Given the description of an element on the screen output the (x, y) to click on. 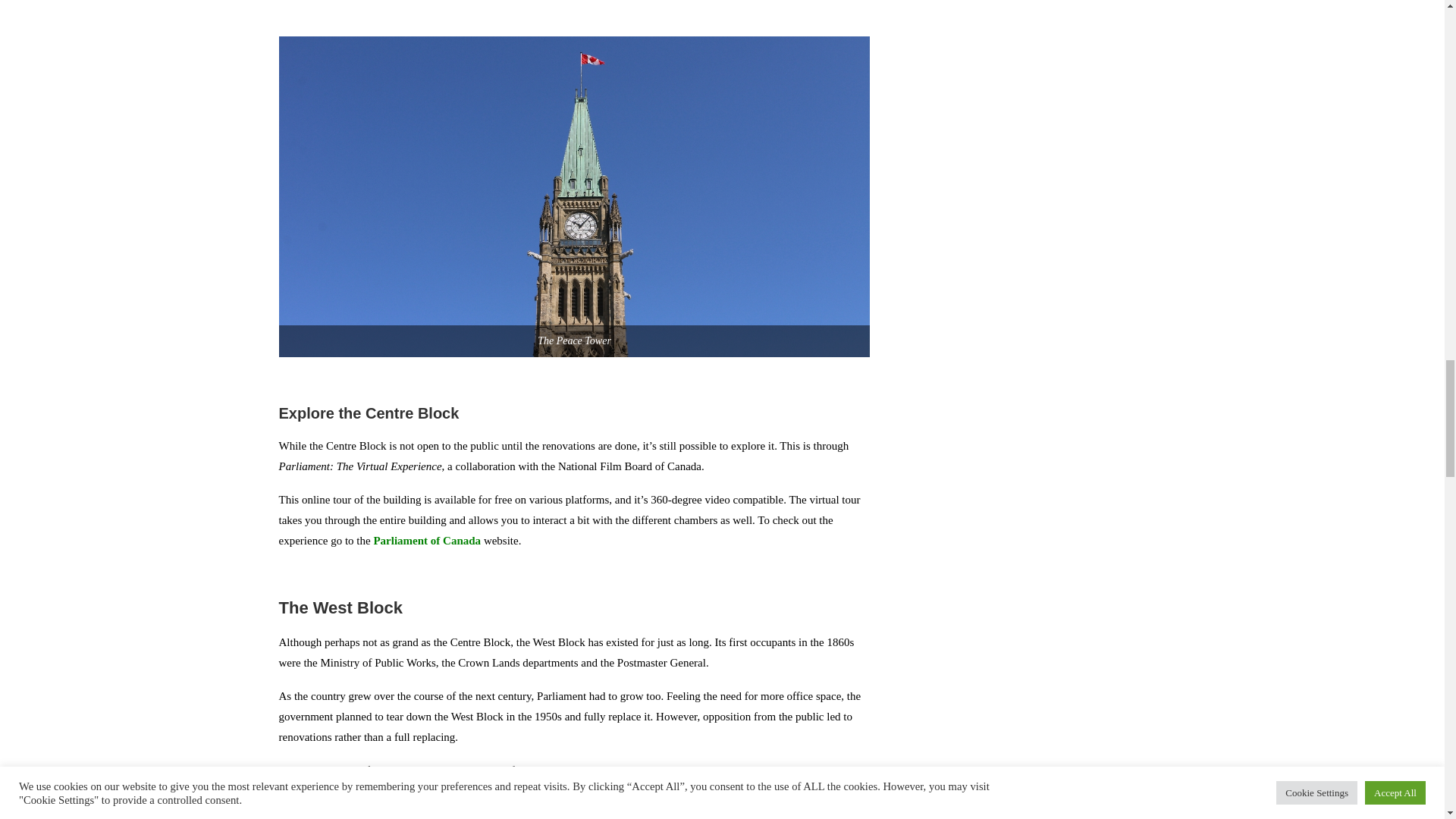
Parliament of Canada (426, 540)
